Given the description of an element on the screen output the (x, y) to click on. 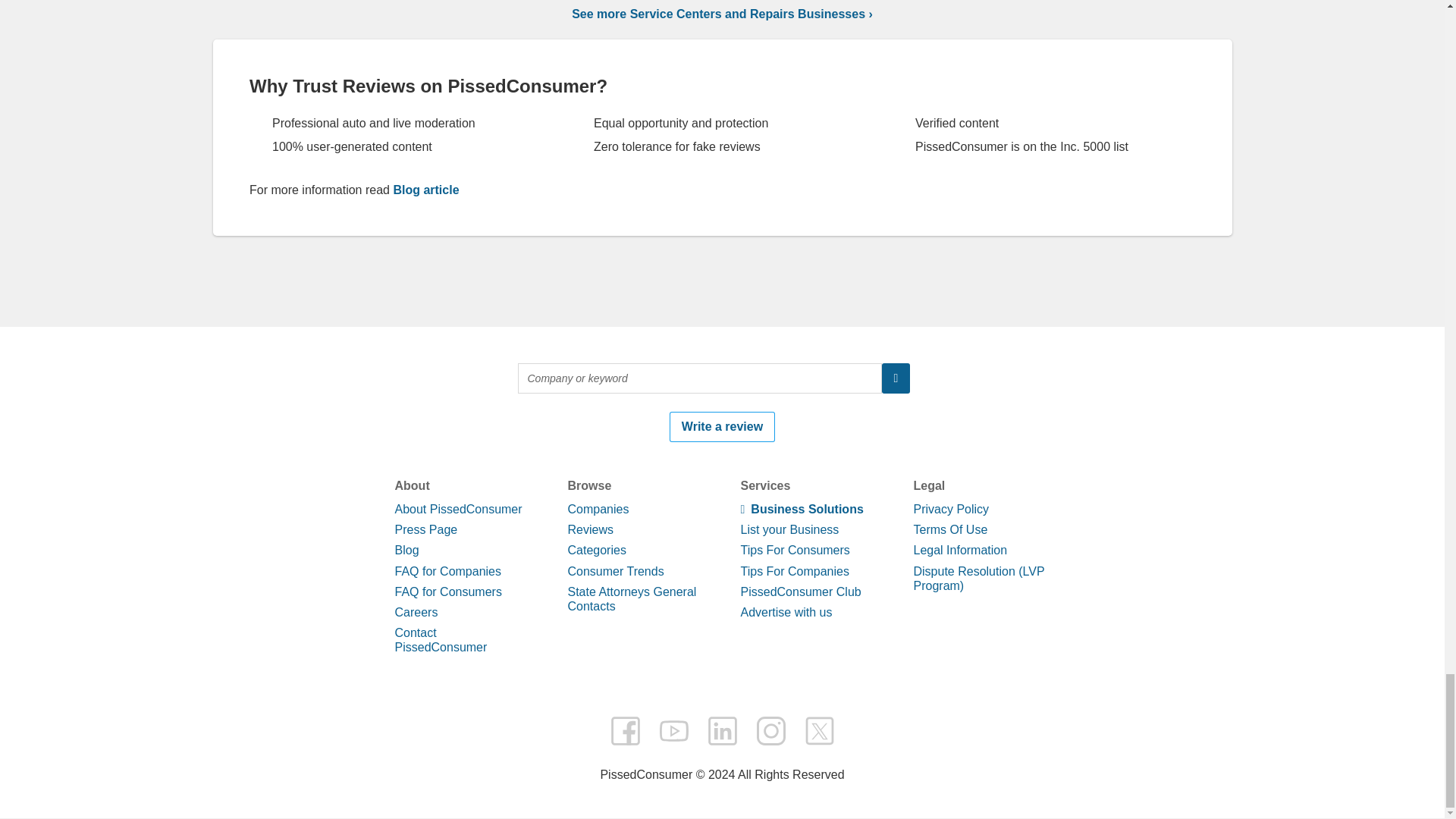
Write a review (721, 766)
